Given the description of an element on the screen output the (x, y) to click on. 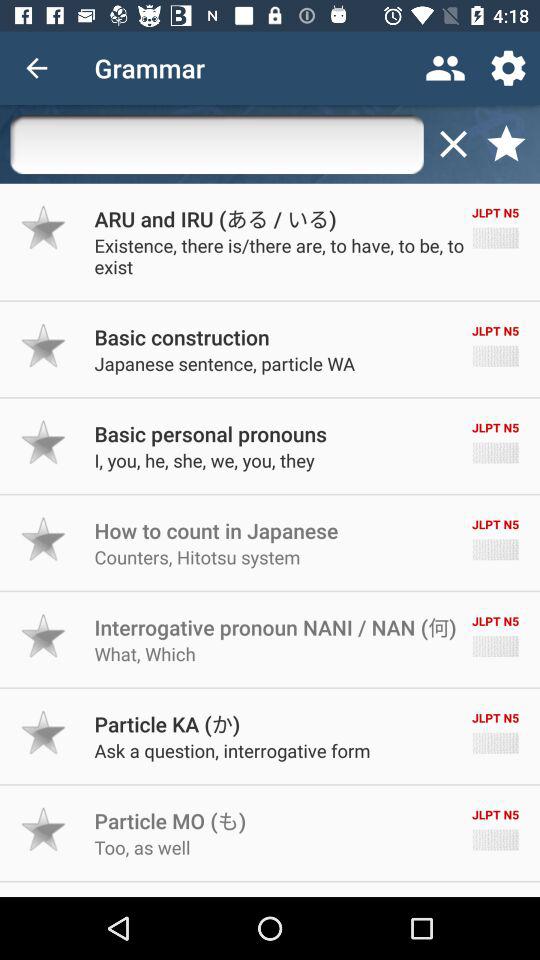
bookmark (506, 144)
